Given the description of an element on the screen output the (x, y) to click on. 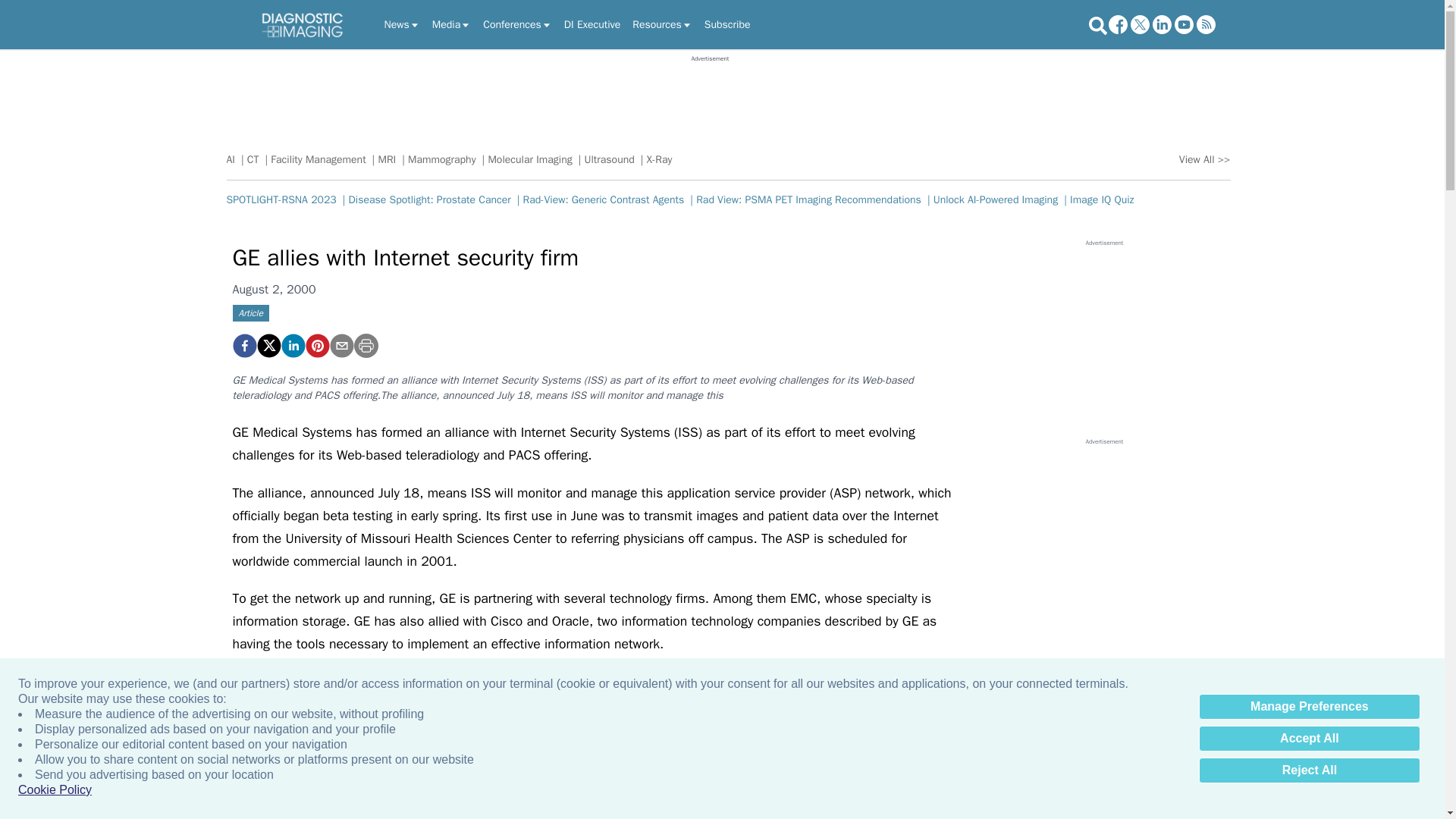
DI Executive (592, 23)
Accept All (1309, 738)
Subscribe (727, 23)
Cookie Policy (54, 789)
Manage Preferences (1309, 706)
GE allies with Internet security firm (243, 345)
Reject All (1309, 769)
GE allies with Internet security firm (316, 345)
3rd party ad content (709, 97)
